Given the description of an element on the screen output the (x, y) to click on. 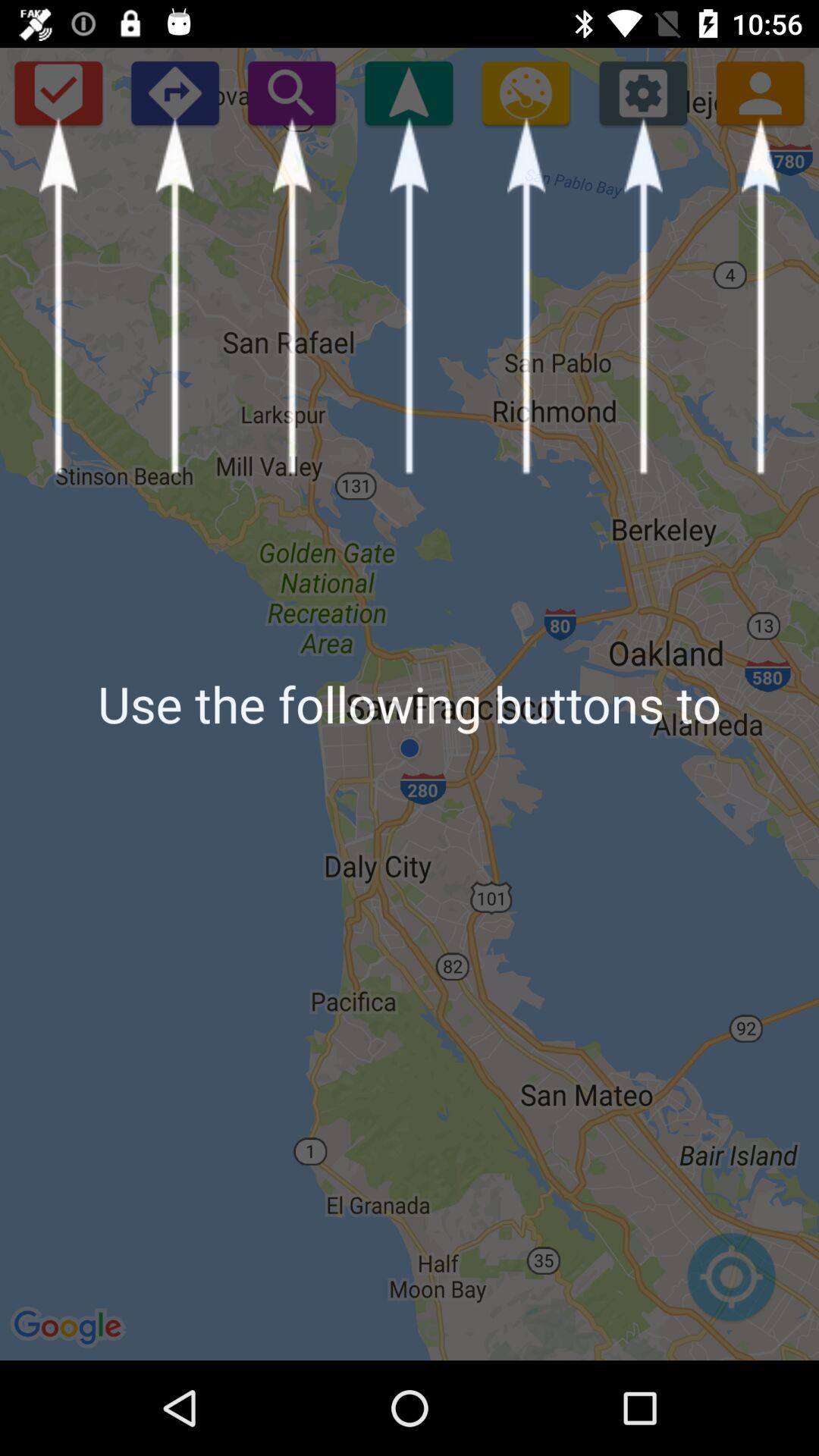
tap the item above use the following item (58, 92)
